Given the description of an element on the screen output the (x, y) to click on. 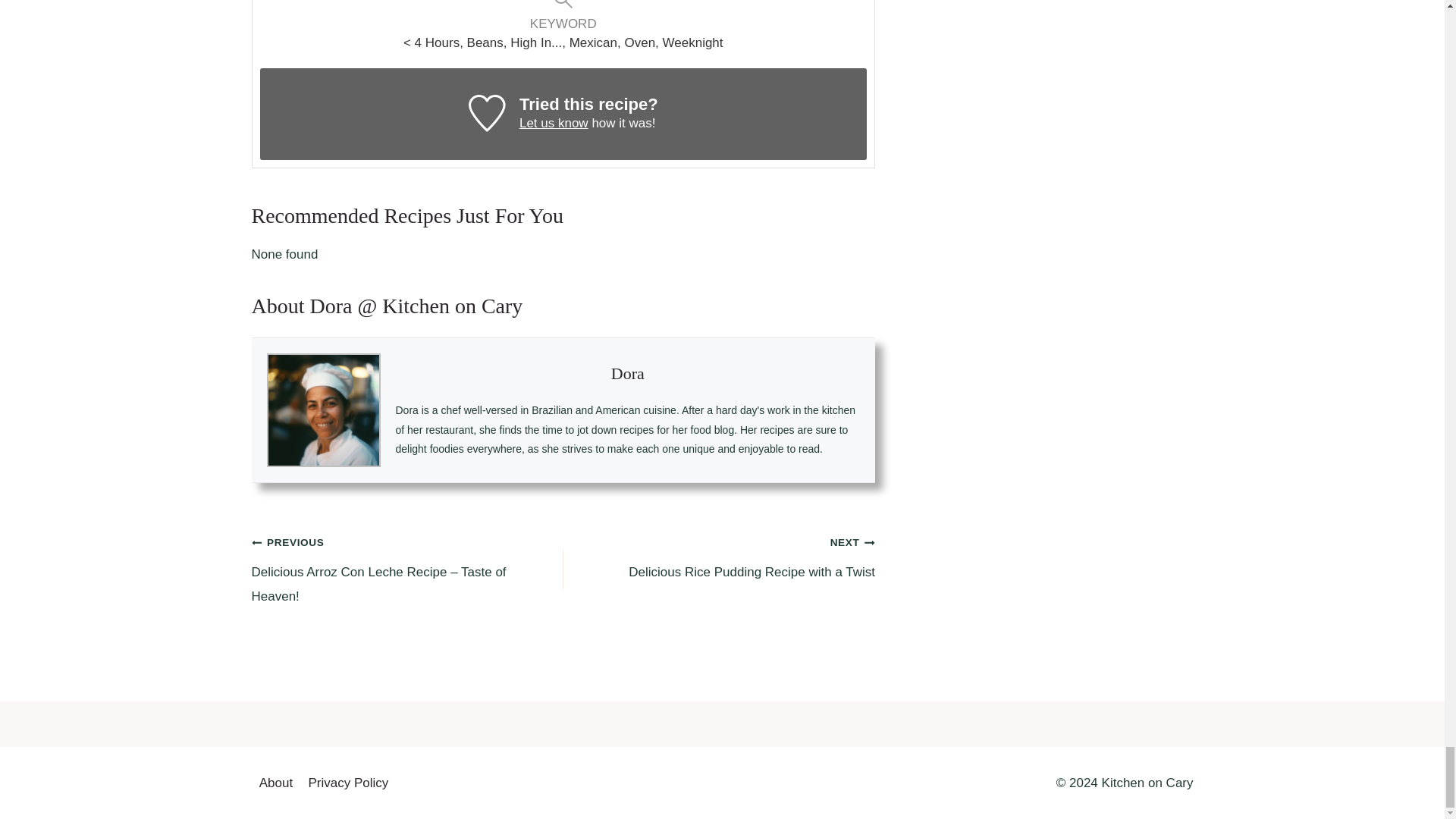
Let us know (553, 123)
